Given the description of an element on the screen output the (x, y) to click on. 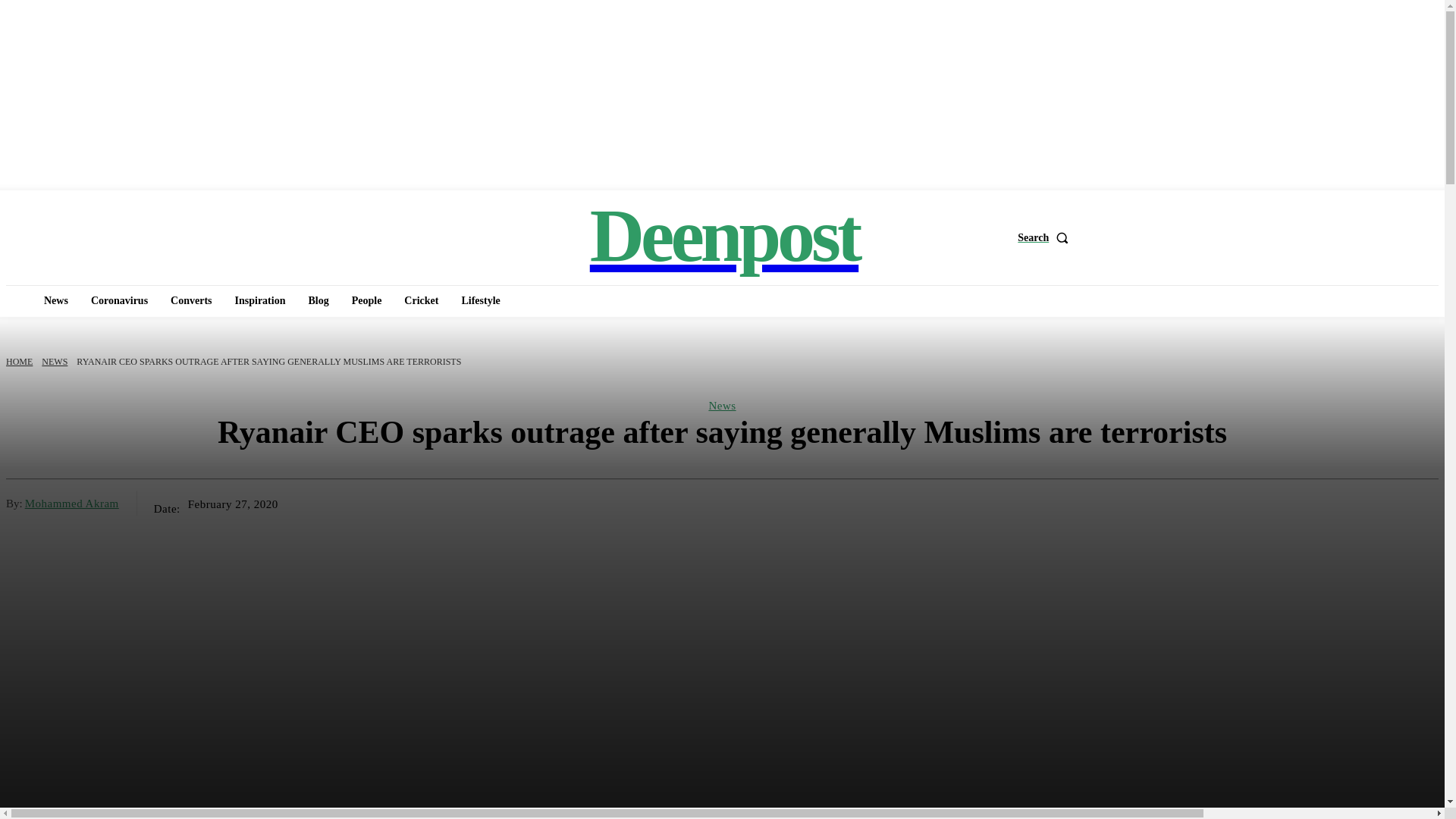
Cricket (420, 300)
Lifestyle (479, 300)
Coronavirus (118, 300)
People (366, 300)
Blog (317, 300)
News (55, 300)
Deenpost (724, 235)
Inspiration (260, 300)
Search (1227, 237)
Converts (191, 300)
